Given the description of an element on the screen output the (x, y) to click on. 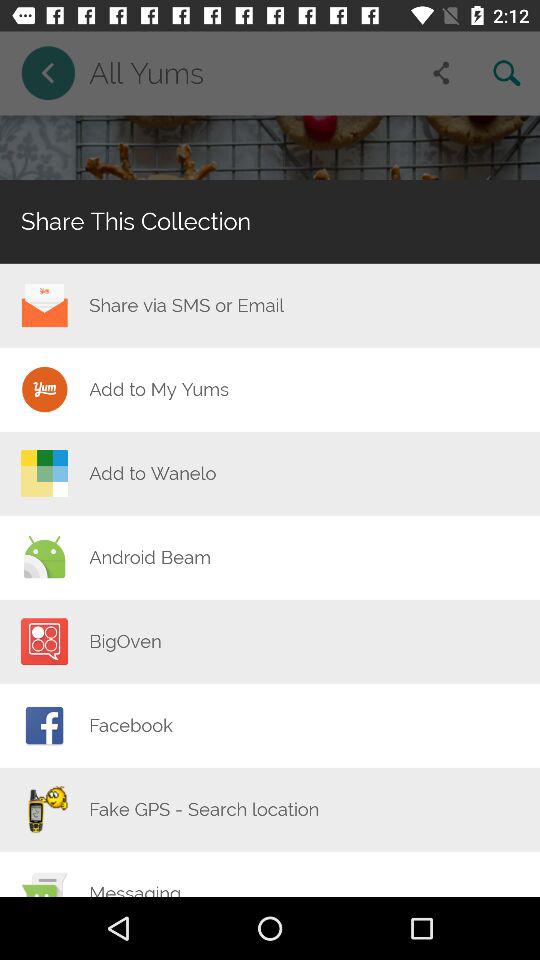
scroll until the fake gps search item (204, 809)
